Given the description of an element on the screen output the (x, y) to click on. 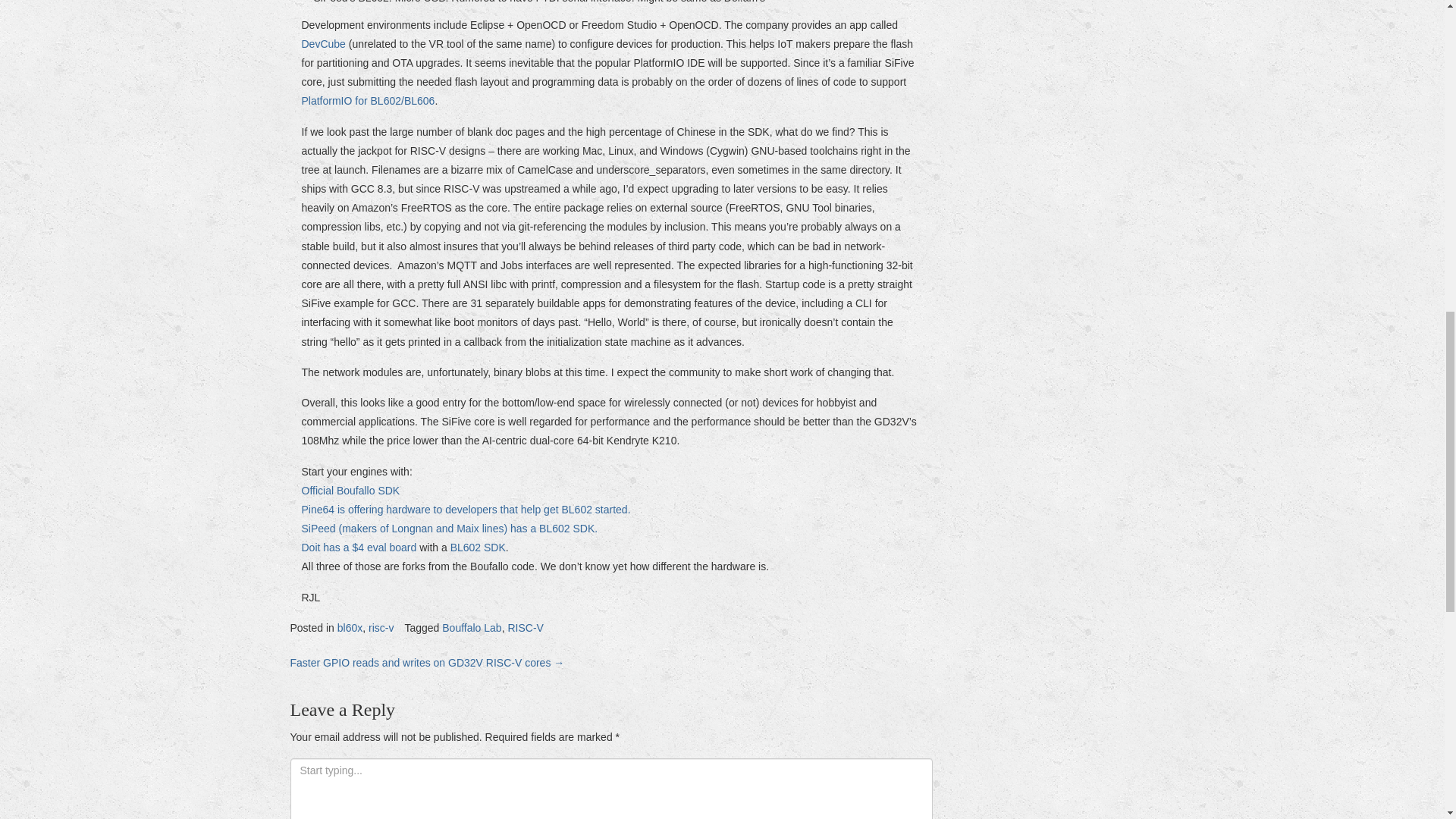
DevCube (325, 43)
risc-v (380, 627)
BL602 SDK (477, 547)
Bouffalo Lab (471, 627)
Official Boufallo SDK (350, 490)
bl60x (349, 627)
RISC-V (524, 627)
